Given the description of an element on the screen output the (x, y) to click on. 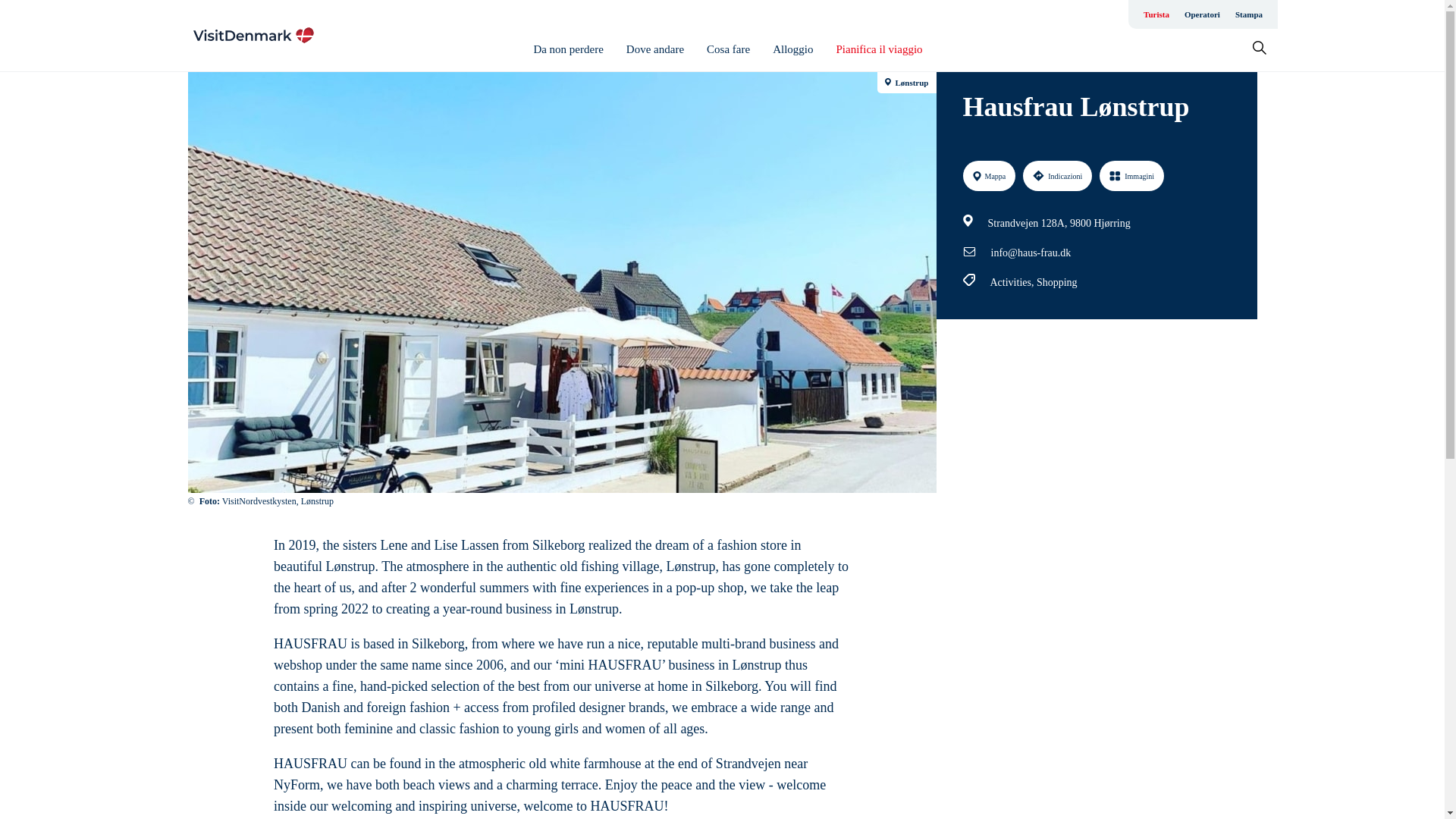
Activities,  (1013, 282)
Cosa fare (727, 49)
Operatori (1201, 14)
Immagini (1131, 175)
Turista (1155, 14)
Mappa (989, 175)
Da non perdere (567, 49)
Dove andare (655, 49)
Stampa (1248, 14)
Indicazioni (1057, 175)
Alloggio (792, 49)
Pianifica il viaggio (878, 49)
Shopping (1056, 282)
